Given the description of an element on the screen output the (x, y) to click on. 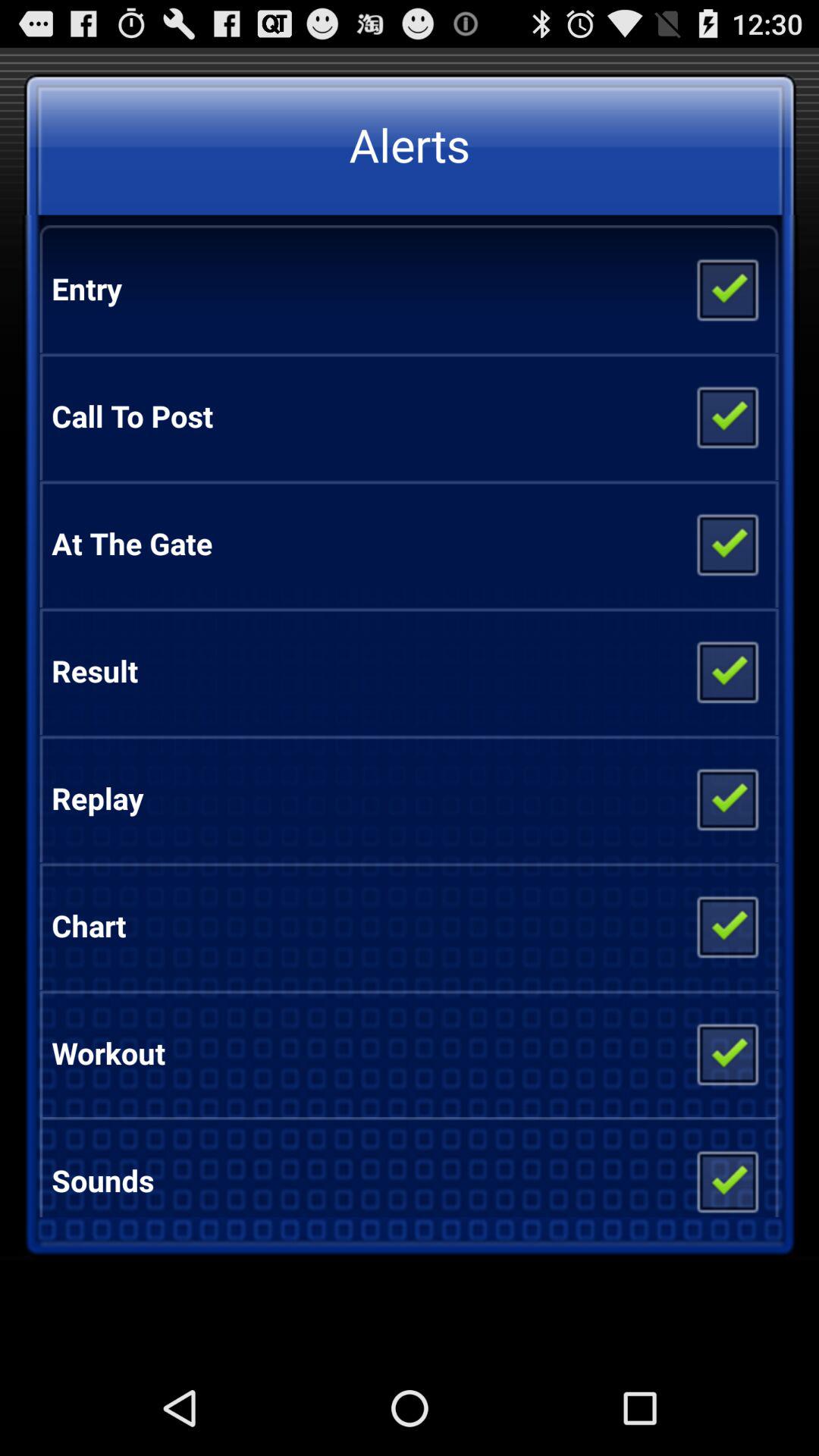
toggle result option (726, 670)
